Given the description of an element on the screen output the (x, y) to click on. 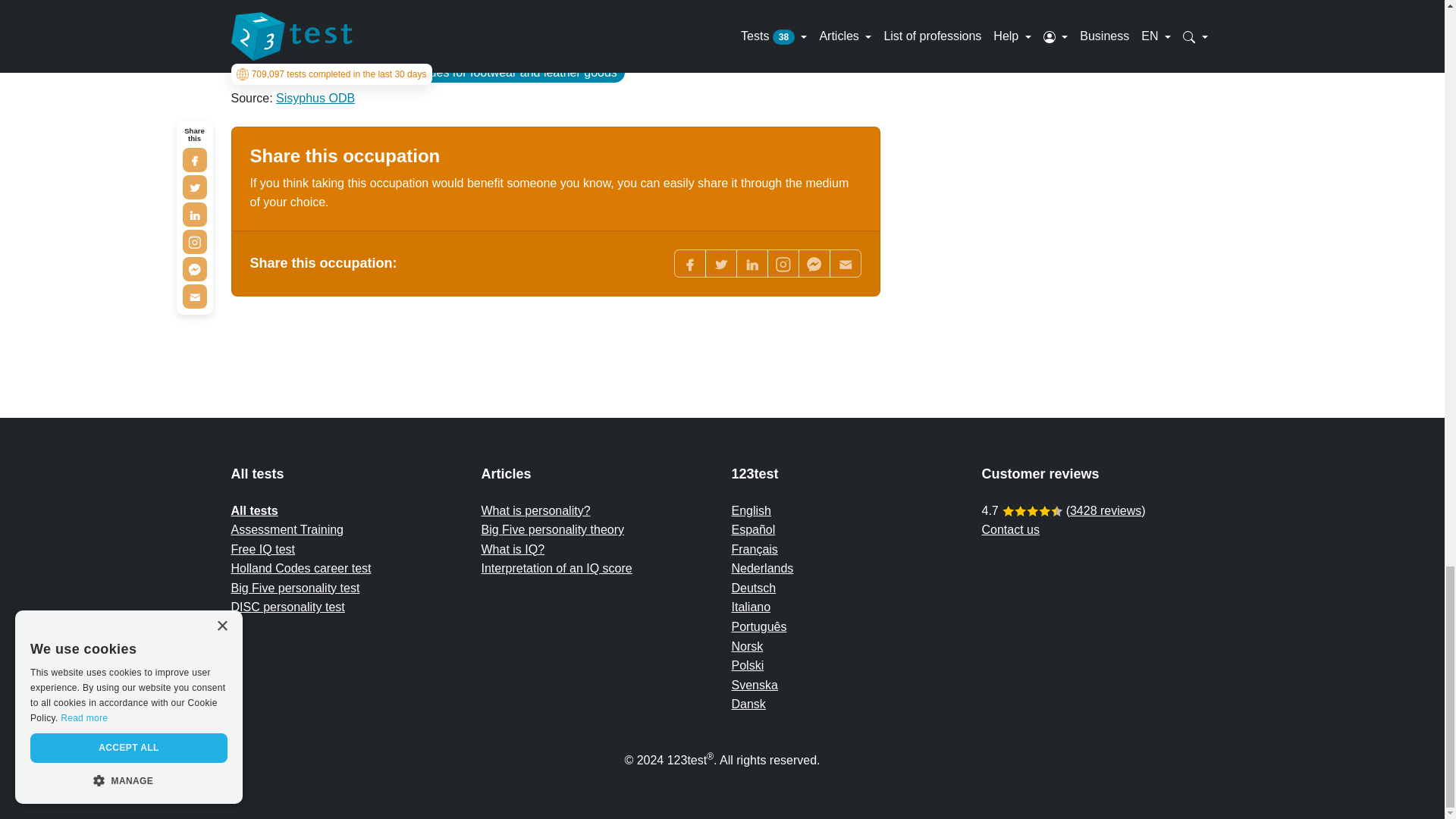
 Twitter (720, 263)
 LinkedIn (751, 263)
 Facebook (688, 263)
Sisyphus ODB (315, 97)
Instagram (783, 263)
